Given the description of an element on the screen output the (x, y) to click on. 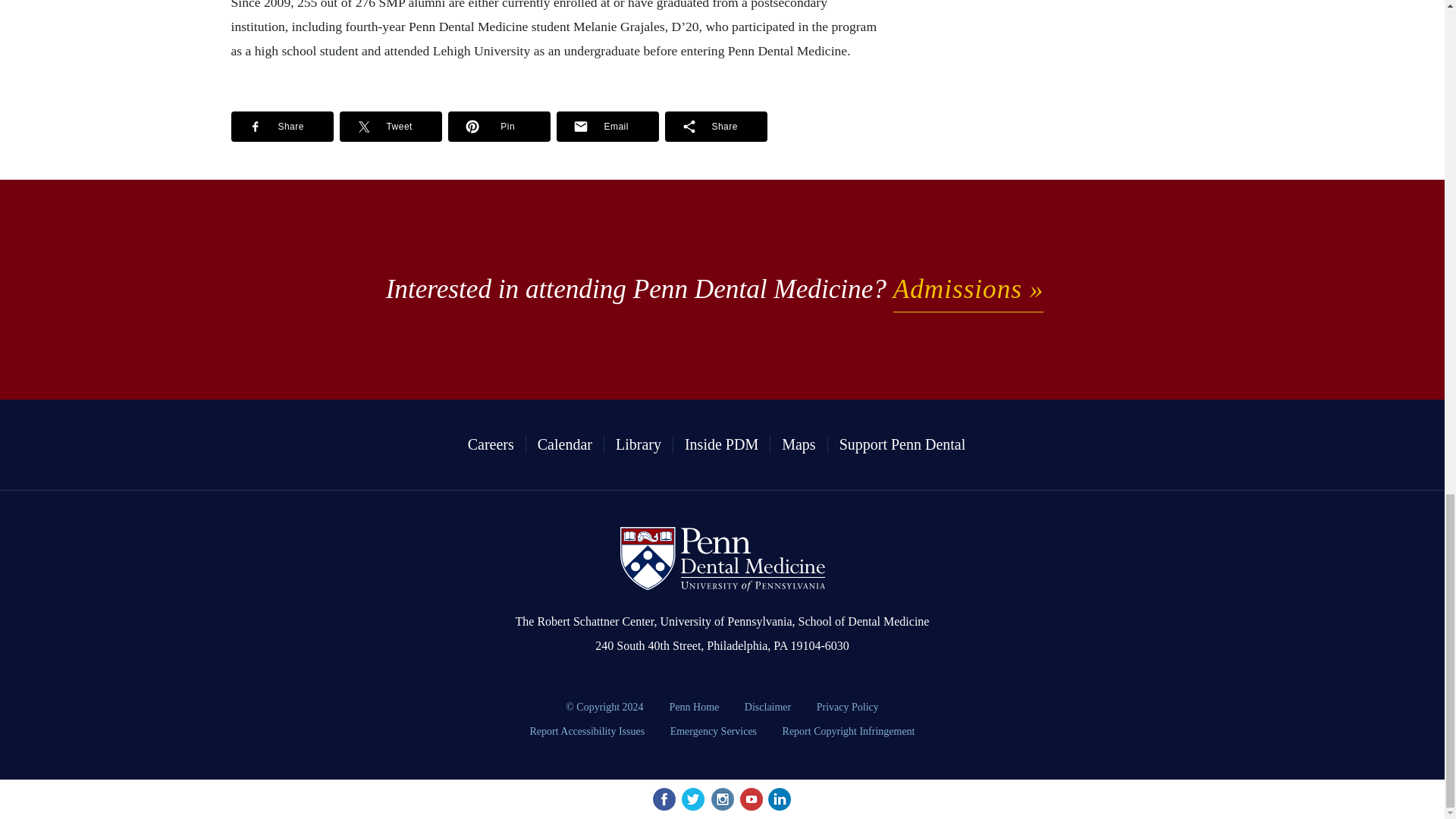
Disclaimer (769, 706)
Emergency Services (715, 731)
Privacy Policy (847, 706)
Report Copyright Infringement (848, 731)
Penn Home (695, 706)
Report Accessibility Issues (588, 731)
Copyright (603, 706)
